Given the description of an element on the screen output the (x, y) to click on. 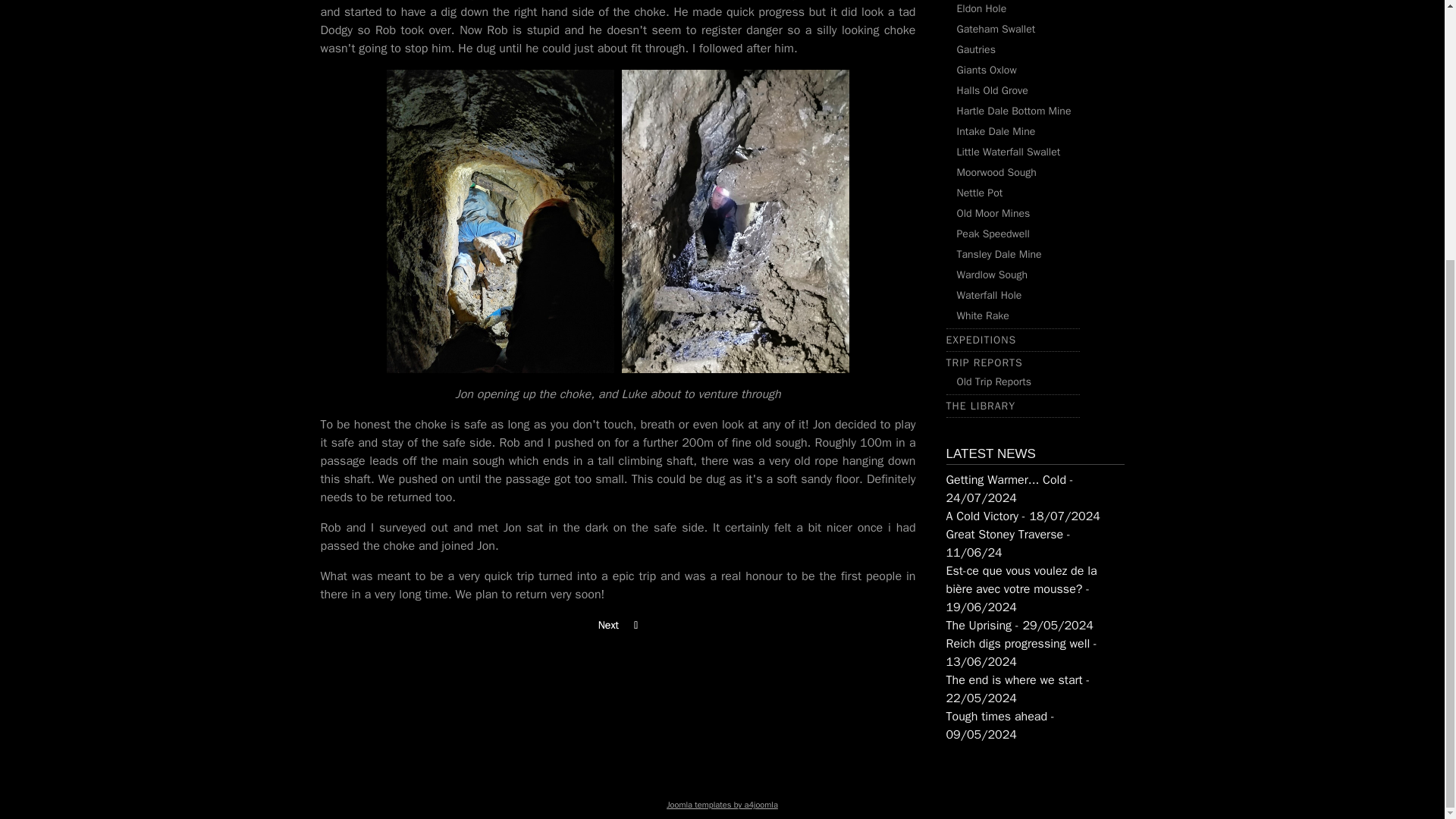
White Rake (982, 315)
EXPEDITIONS (981, 339)
Gautries (975, 49)
Wardlow Sough (991, 274)
Old Moor Mines (993, 213)
Giants Oxlow (986, 69)
Moorwood Sough (996, 172)
TRIP REPORTS (984, 362)
Old Trip Reports (993, 381)
Hartle Dale Bottom Mine (1013, 110)
Intake Dale Mine (995, 131)
THE LIBRARY (981, 405)
Tansley Dale Mine (999, 254)
Nettle Pot (979, 192)
Little Waterfall Swallet (1008, 151)
